Given the description of an element on the screen output the (x, y) to click on. 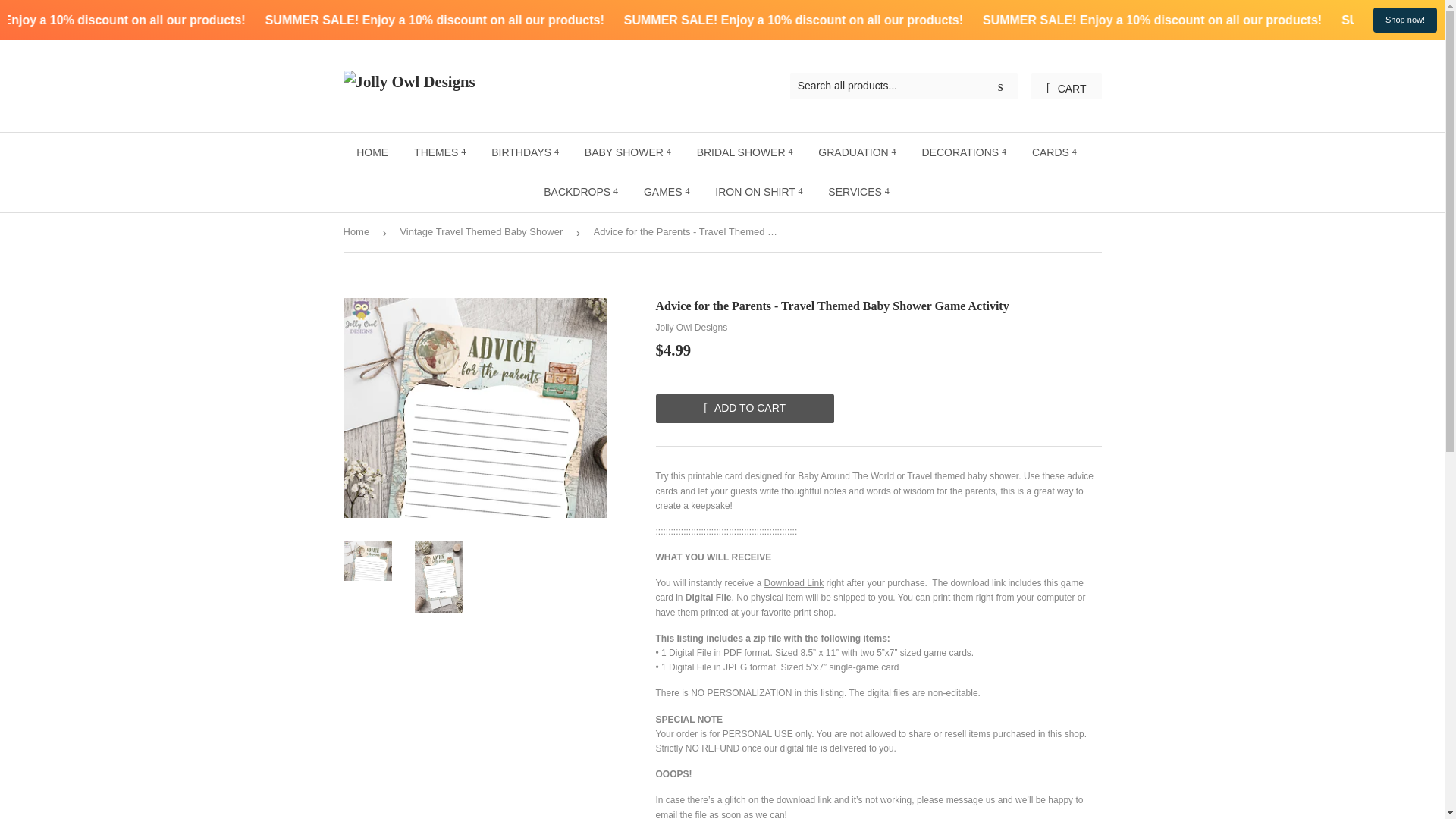
Shop now! (1405, 19)
CART (1065, 85)
Search (1000, 86)
